Given the description of an element on the screen output the (x, y) to click on. 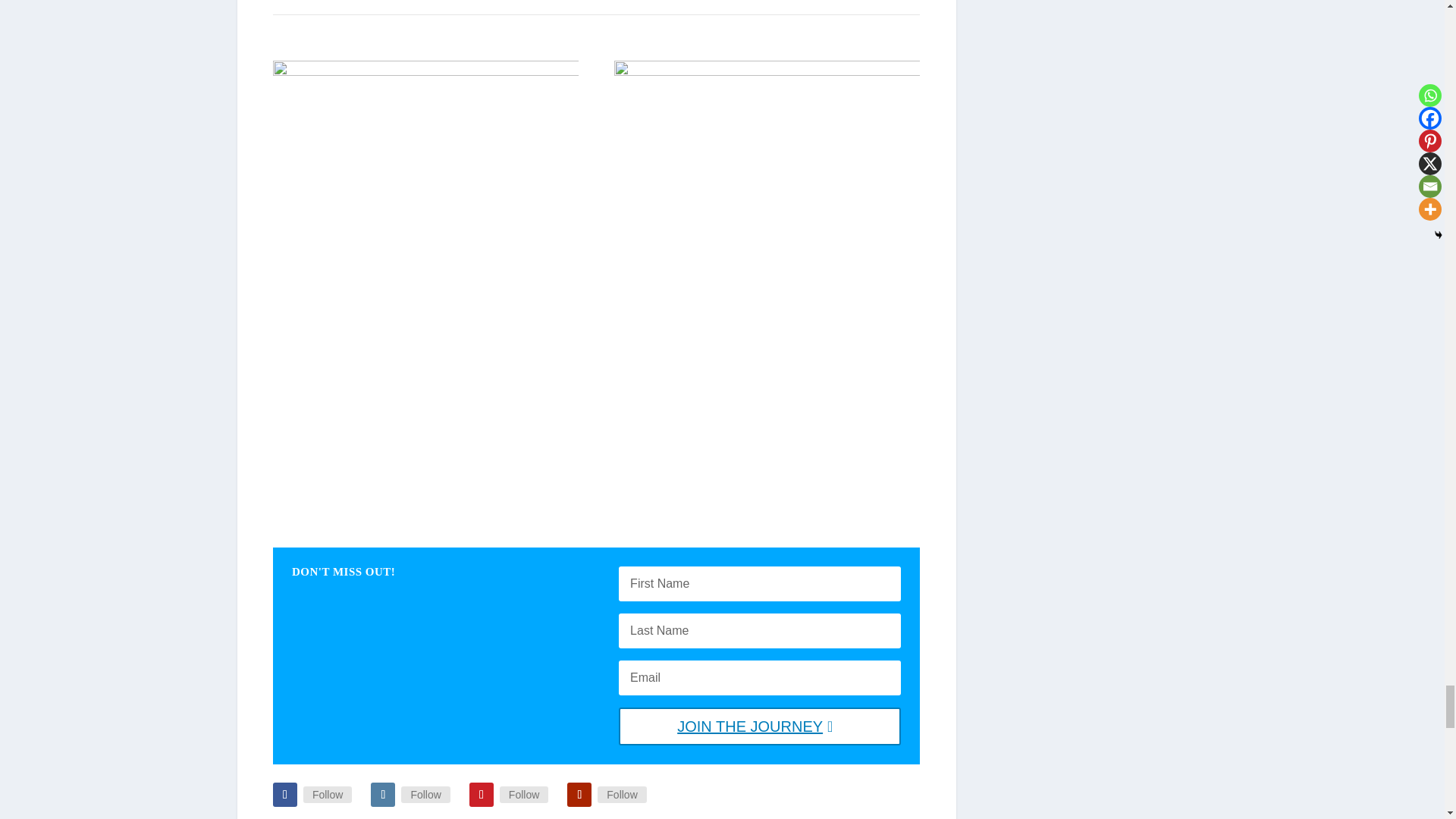
Facebook (327, 794)
Follow on Facebook (285, 794)
